Given the description of an element on the screen output the (x, y) to click on. 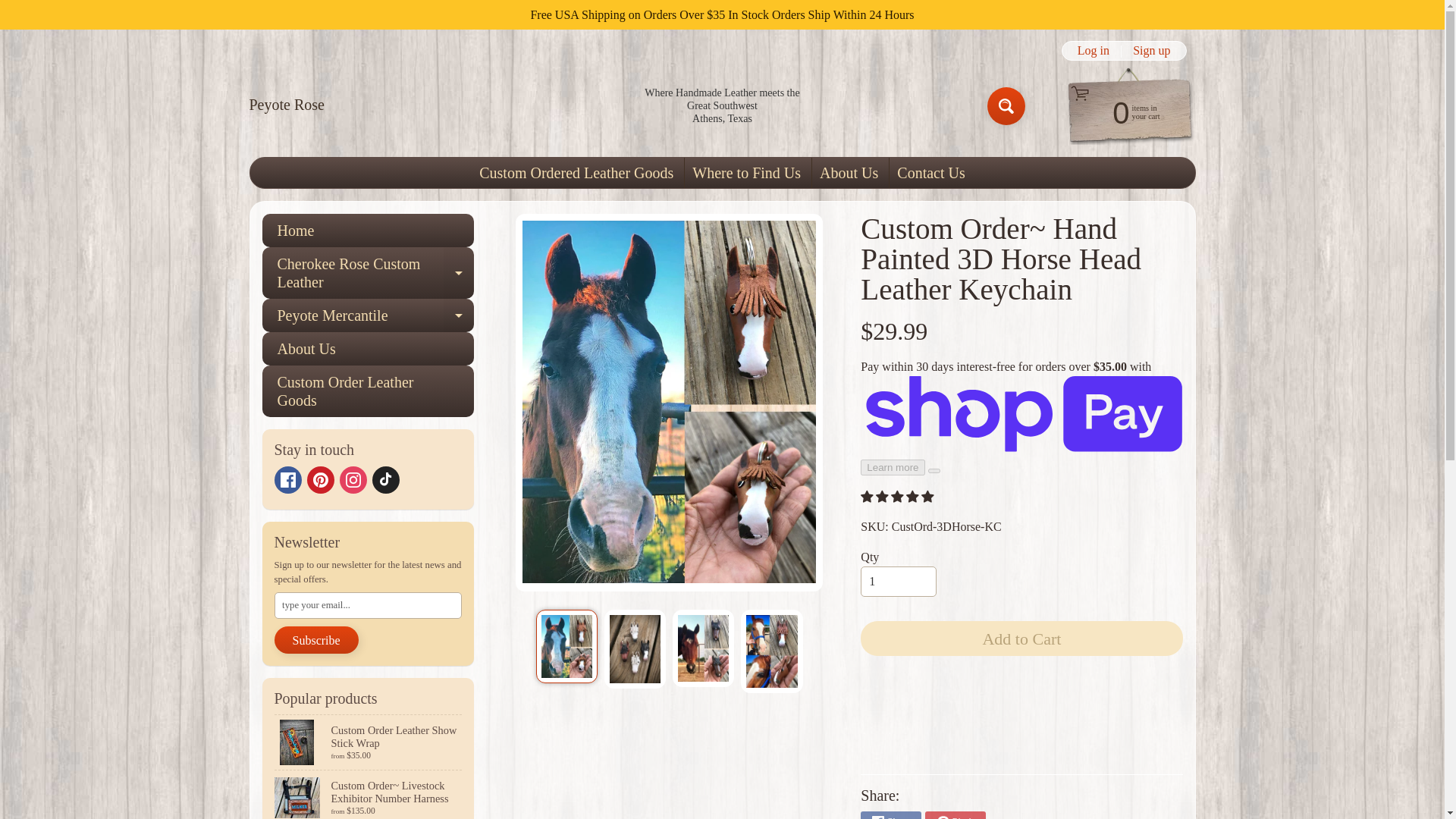
Log in (1093, 50)
Search (1006, 105)
About Us (848, 173)
Peyote Rose (285, 104)
Contact Us (1122, 111)
TikTok (930, 173)
Where to Find Us (384, 479)
Pinterest (746, 173)
Custom Ordered Leather Goods (319, 479)
